Given the description of an element on the screen output the (x, y) to click on. 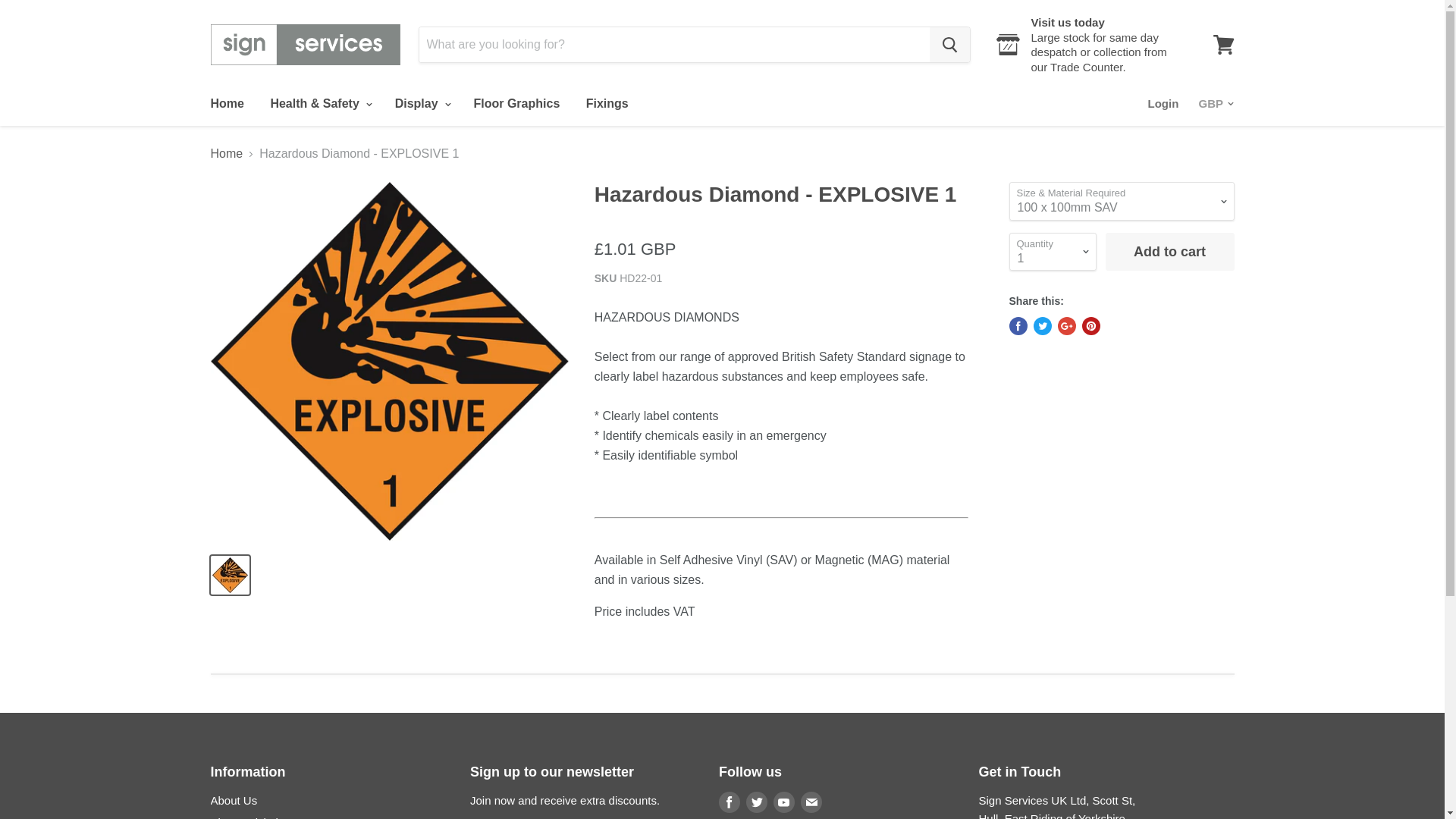
Twitter (756, 801)
View cart (1223, 44)
Youtube (783, 801)
Home (226, 103)
E-mail (811, 801)
Facebook (729, 801)
